Given the description of an element on the screen output the (x, y) to click on. 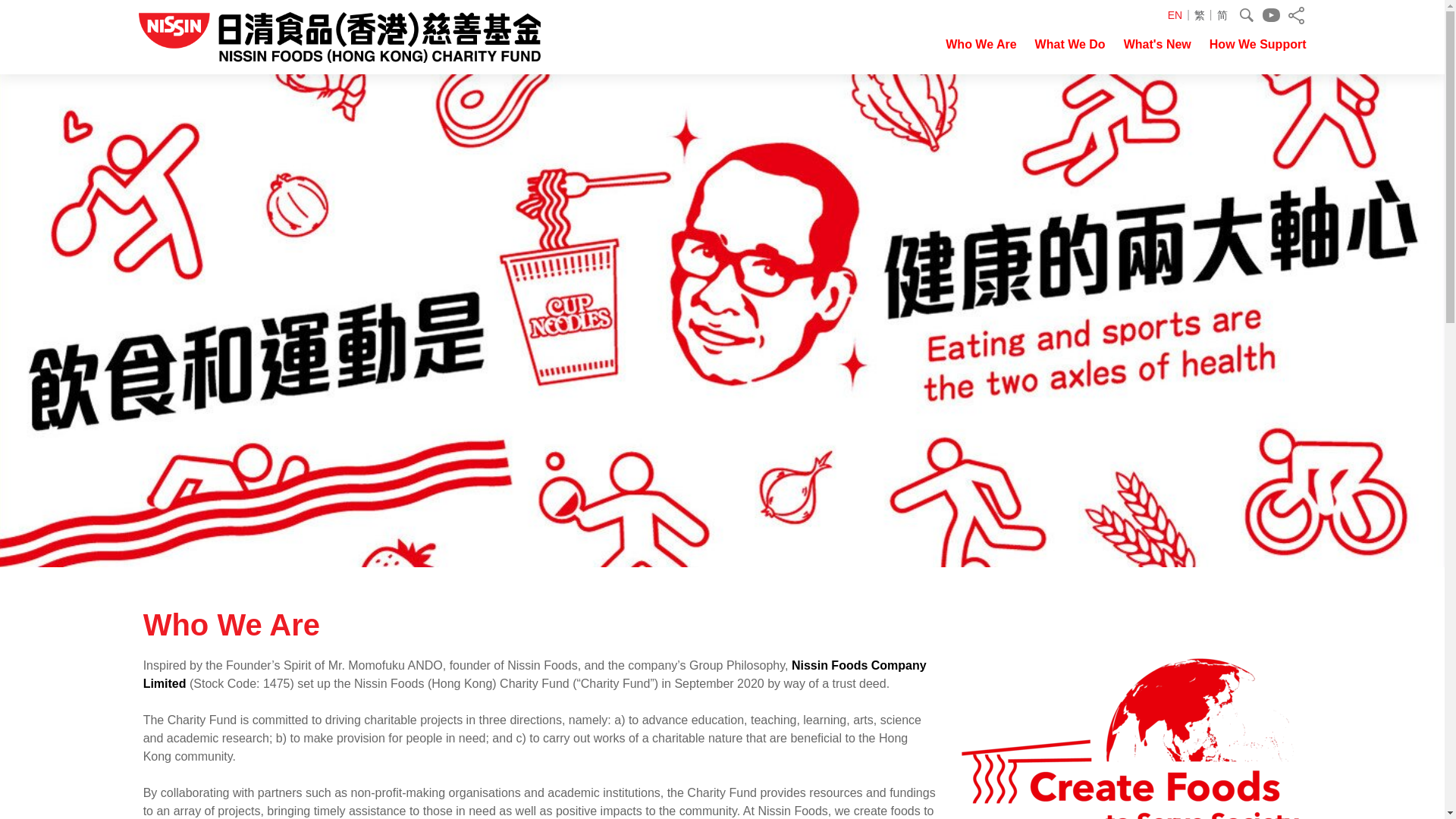
Share to (1295, 15)
What We Do (1070, 55)
Nissin Foods Company Limited (534, 674)
Search (1245, 15)
What's New (1157, 55)
Youtube (1270, 15)
How We Support (1257, 55)
EN (1180, 14)
Who We Are (980, 55)
Visit Nissin Youtube channel (1270, 15)
